Given the description of an element on the screen output the (x, y) to click on. 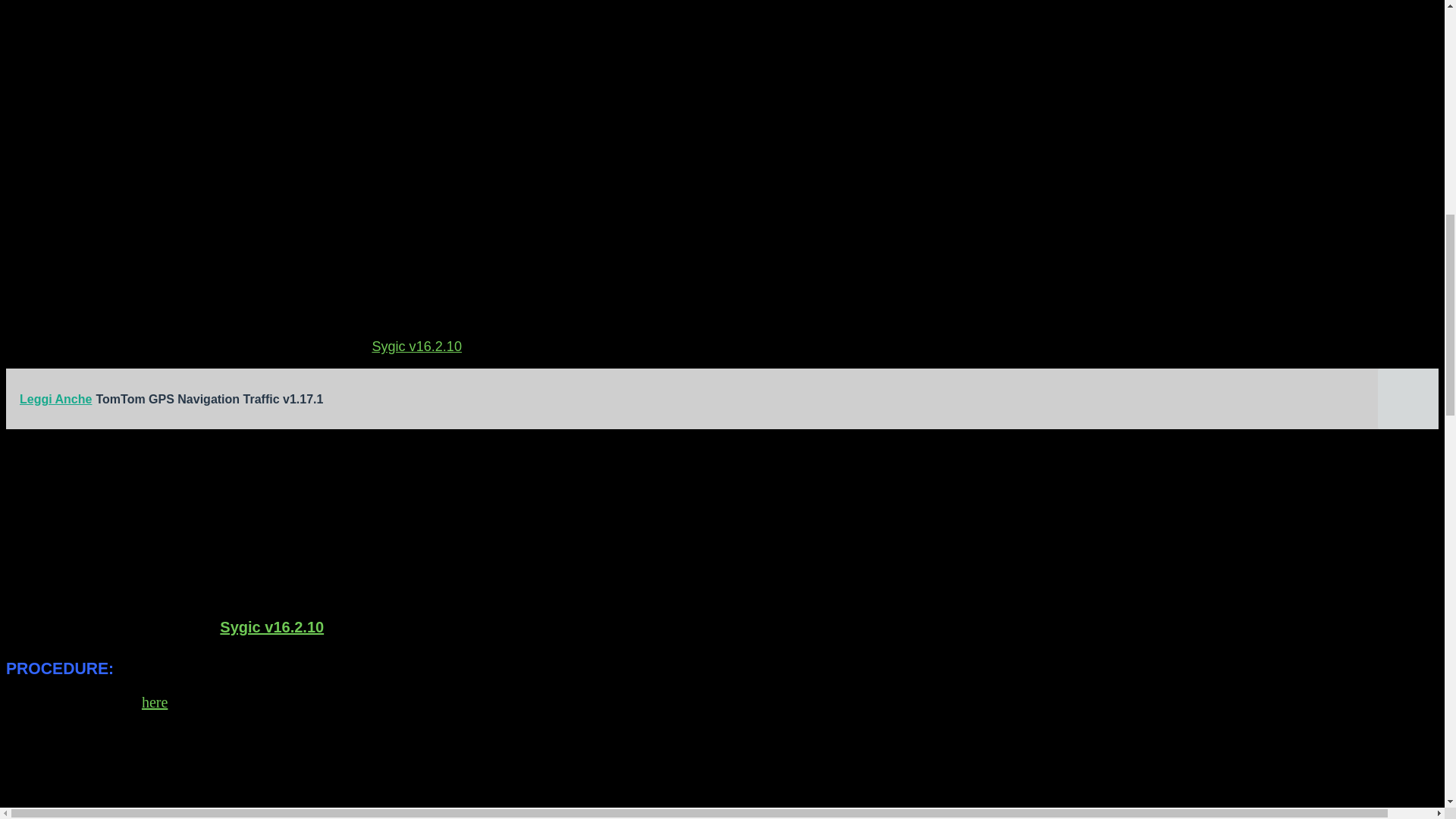
here (154, 701)
Sygic v16.2.10 (416, 346)
Sygic v16.2.10 (271, 627)
Leggi Anche TomTom GPS Navigation Traffic v1.17.1 (721, 398)
